Given the description of an element on the screen output the (x, y) to click on. 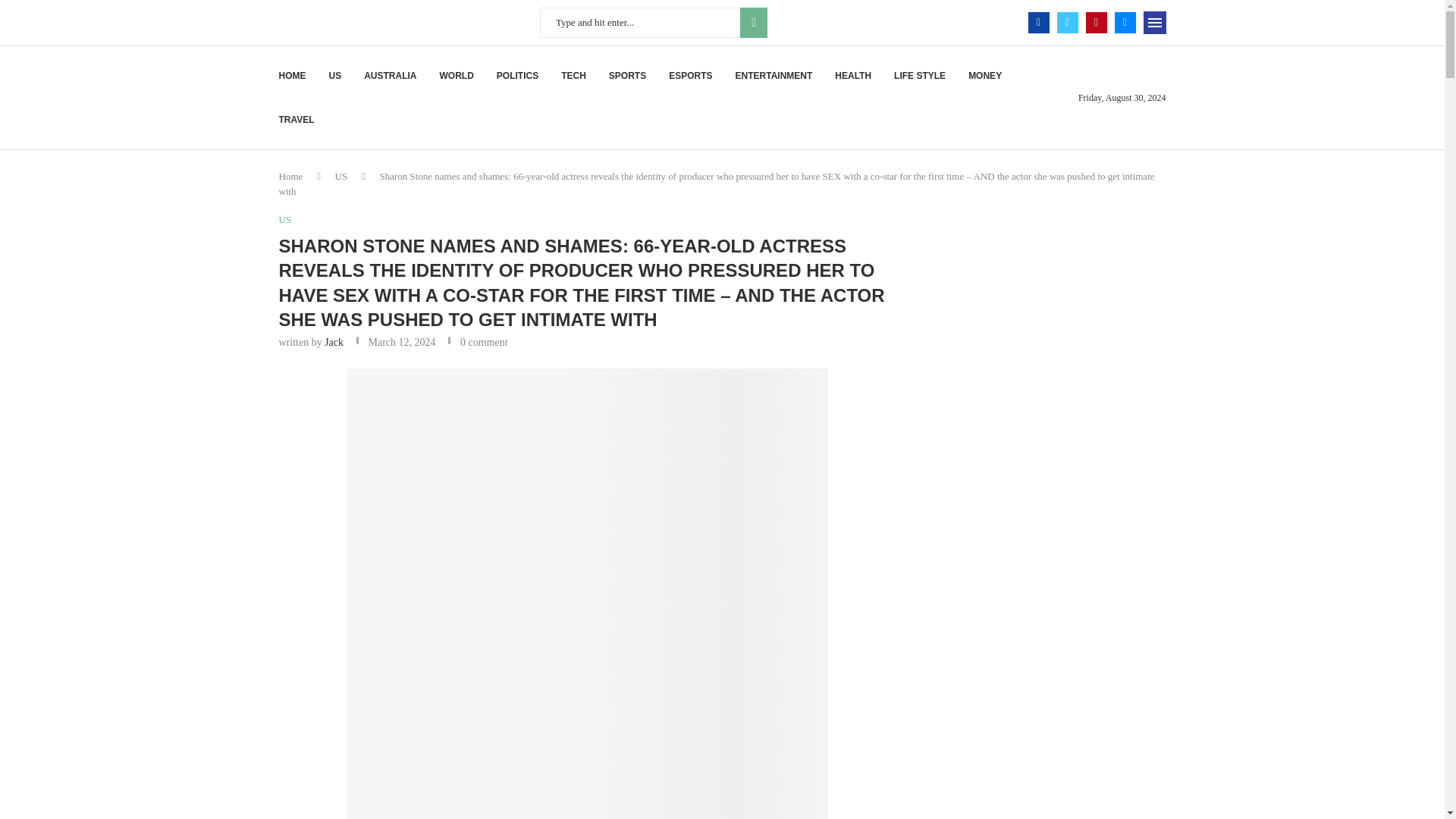
ENTERTAINMENT (773, 75)
LIFE STYLE (918, 75)
AUSTRALIA (390, 75)
ESPORTS (689, 75)
SEARCH (753, 22)
POLITICS (517, 75)
